Given the description of an element on the screen output the (x, y) to click on. 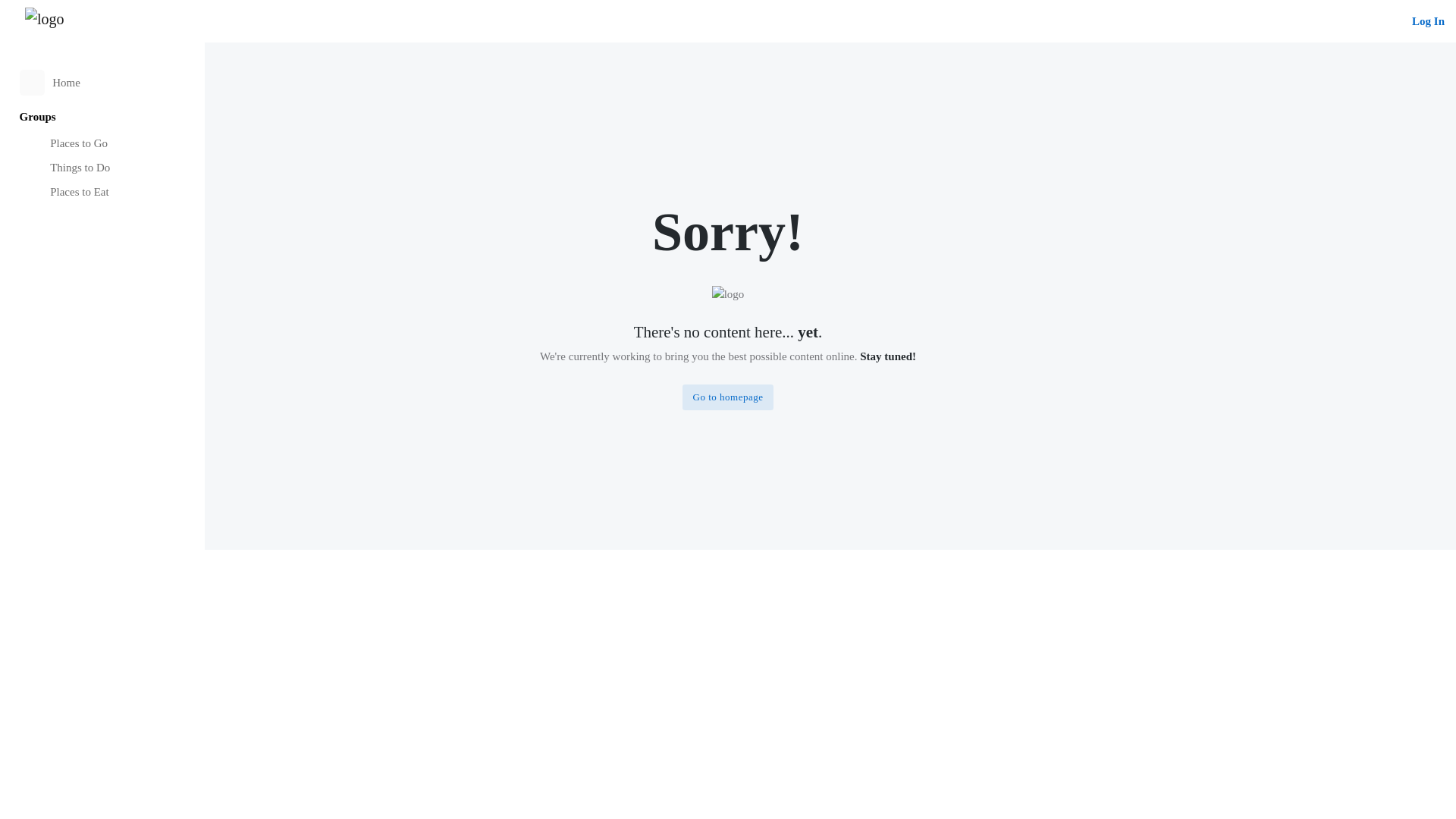
Home (103, 82)
Log In (1428, 21)
Go to homepage (728, 397)
Places to Go (103, 143)
Things to Do (103, 168)
Places to Eat (103, 192)
